Given the description of an element on the screen output the (x, y) to click on. 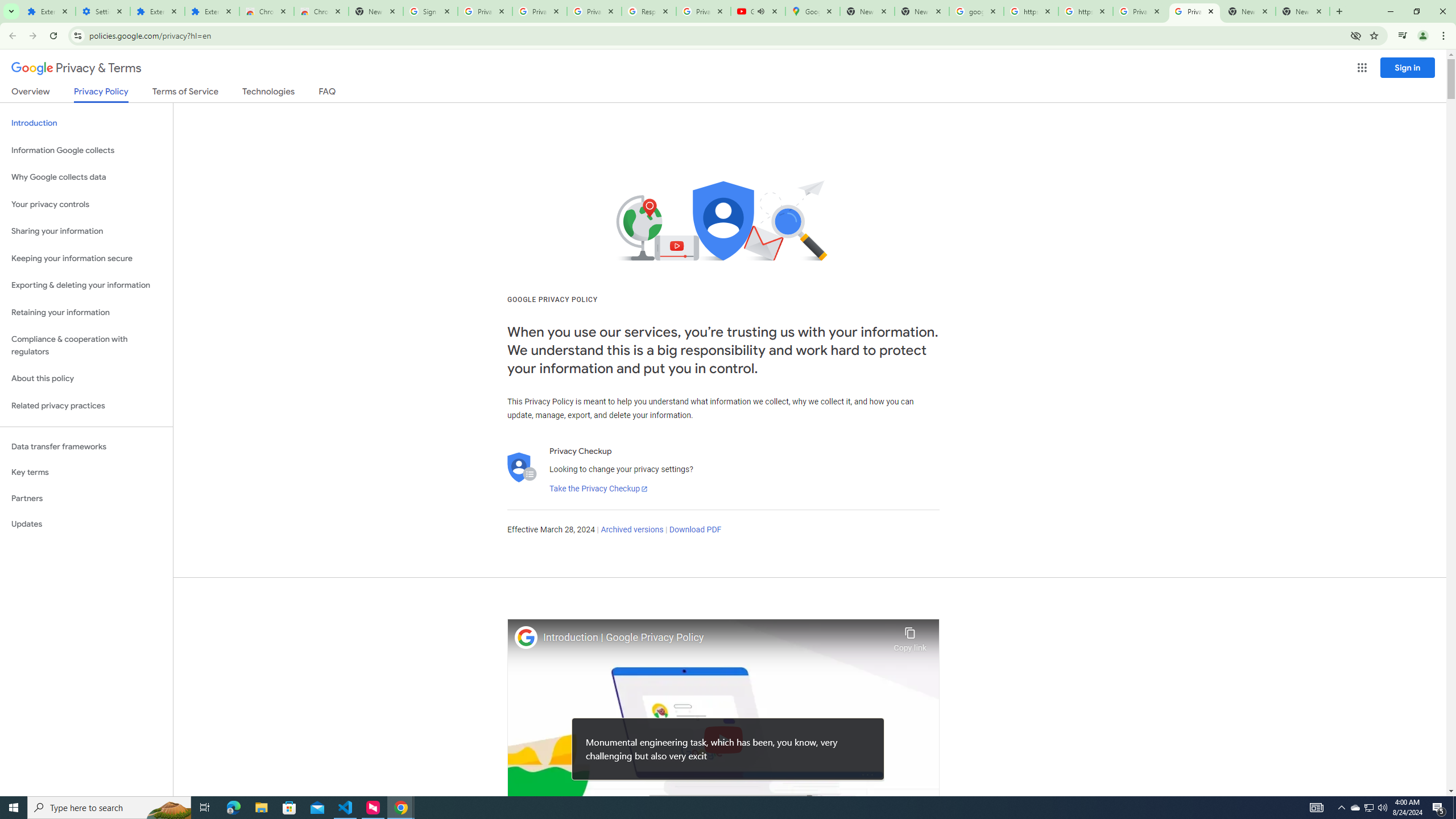
Google Maps (812, 11)
Introduction | Google Privacy Policy (715, 637)
Extensions (211, 11)
Play (723, 739)
